Given the description of an element on the screen output the (x, y) to click on. 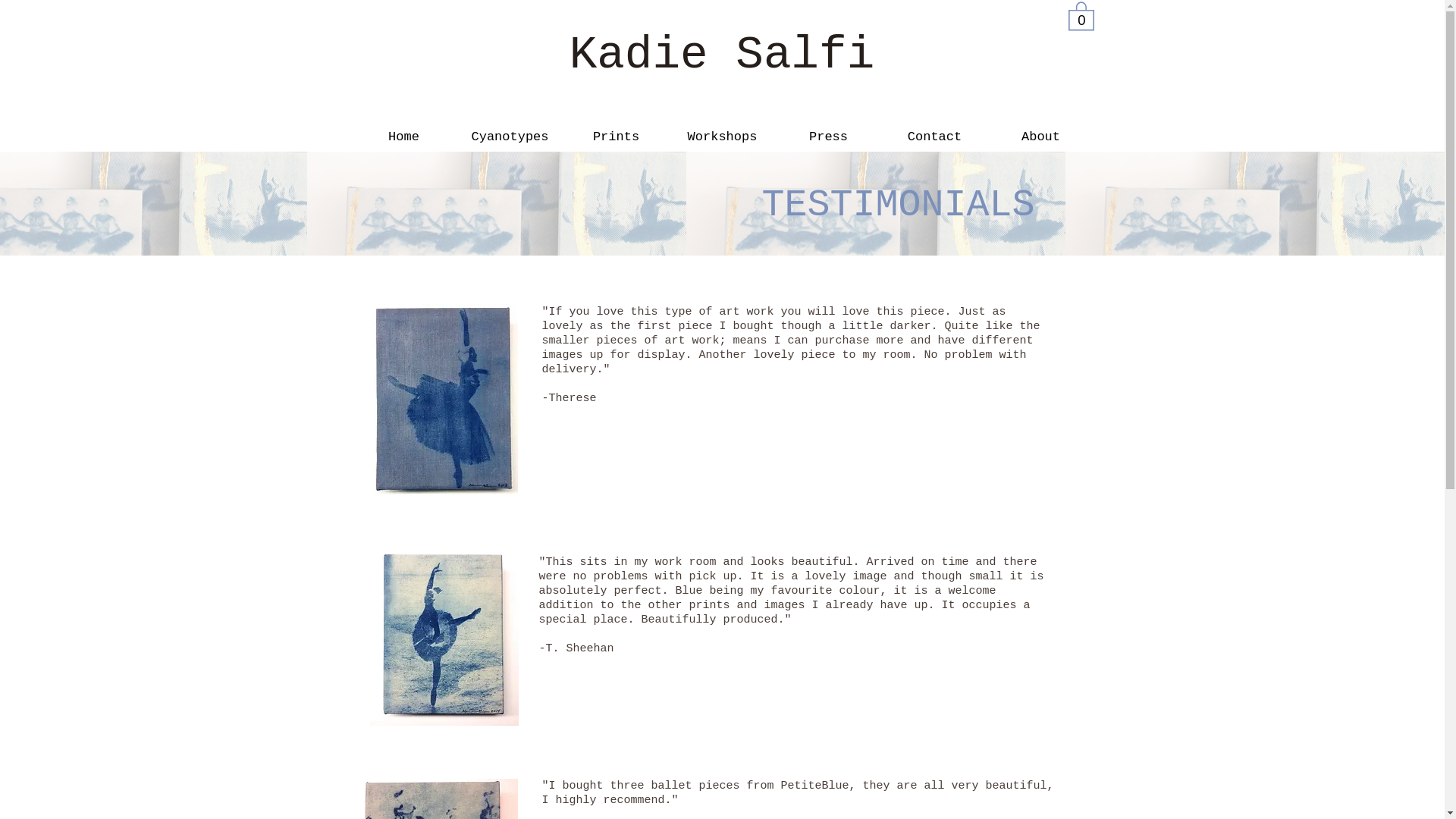
Contact (933, 141)
Workshops (721, 141)
About (1040, 141)
Press (827, 141)
Home (403, 141)
